Given the description of an element on the screen output the (x, y) to click on. 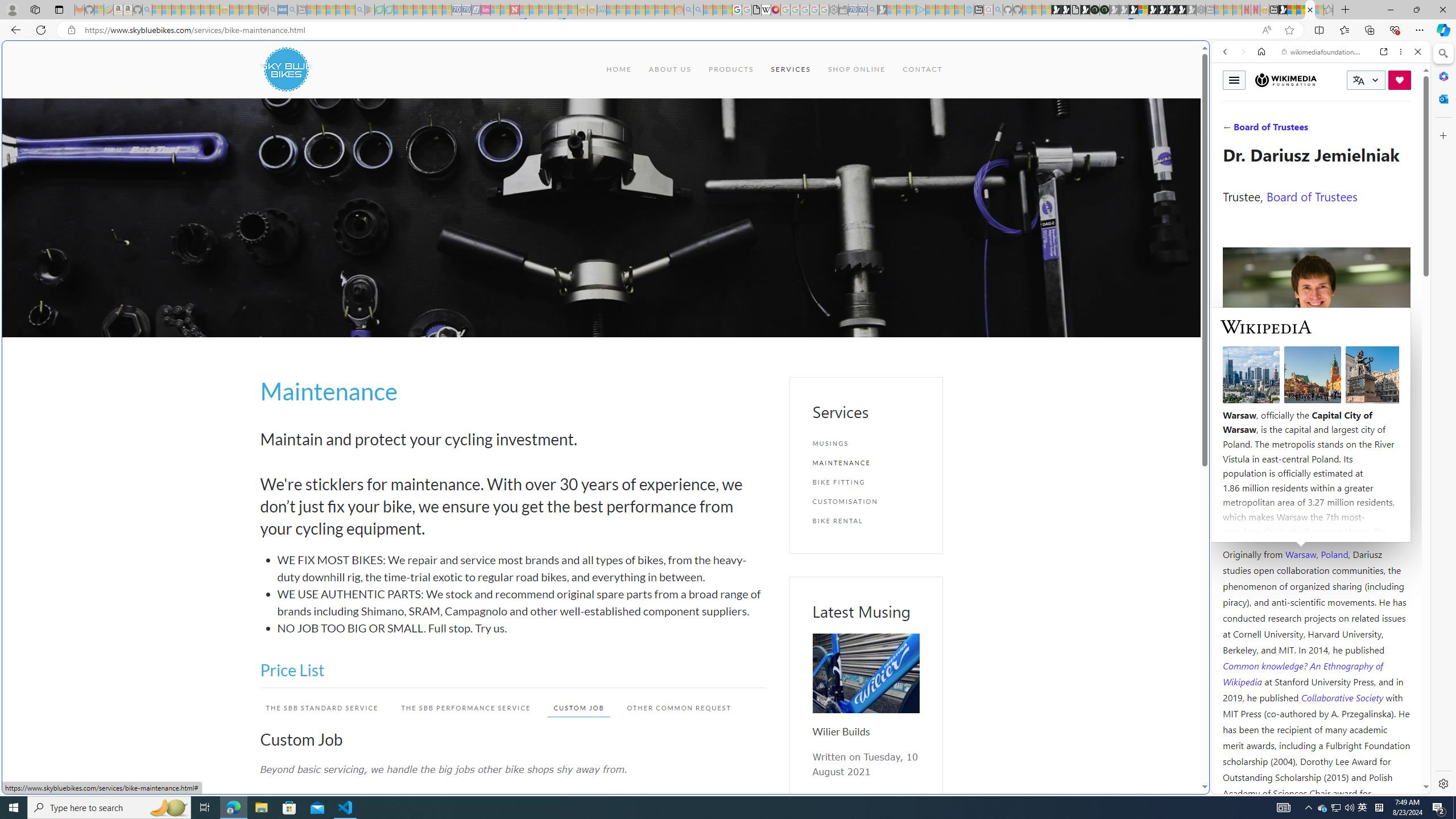
github - Search - Sleeping (997, 9)
Sign in to your account (1143, 9)
Collaborative Society  (1343, 697)
